Given the description of an element on the screen output the (x, y) to click on. 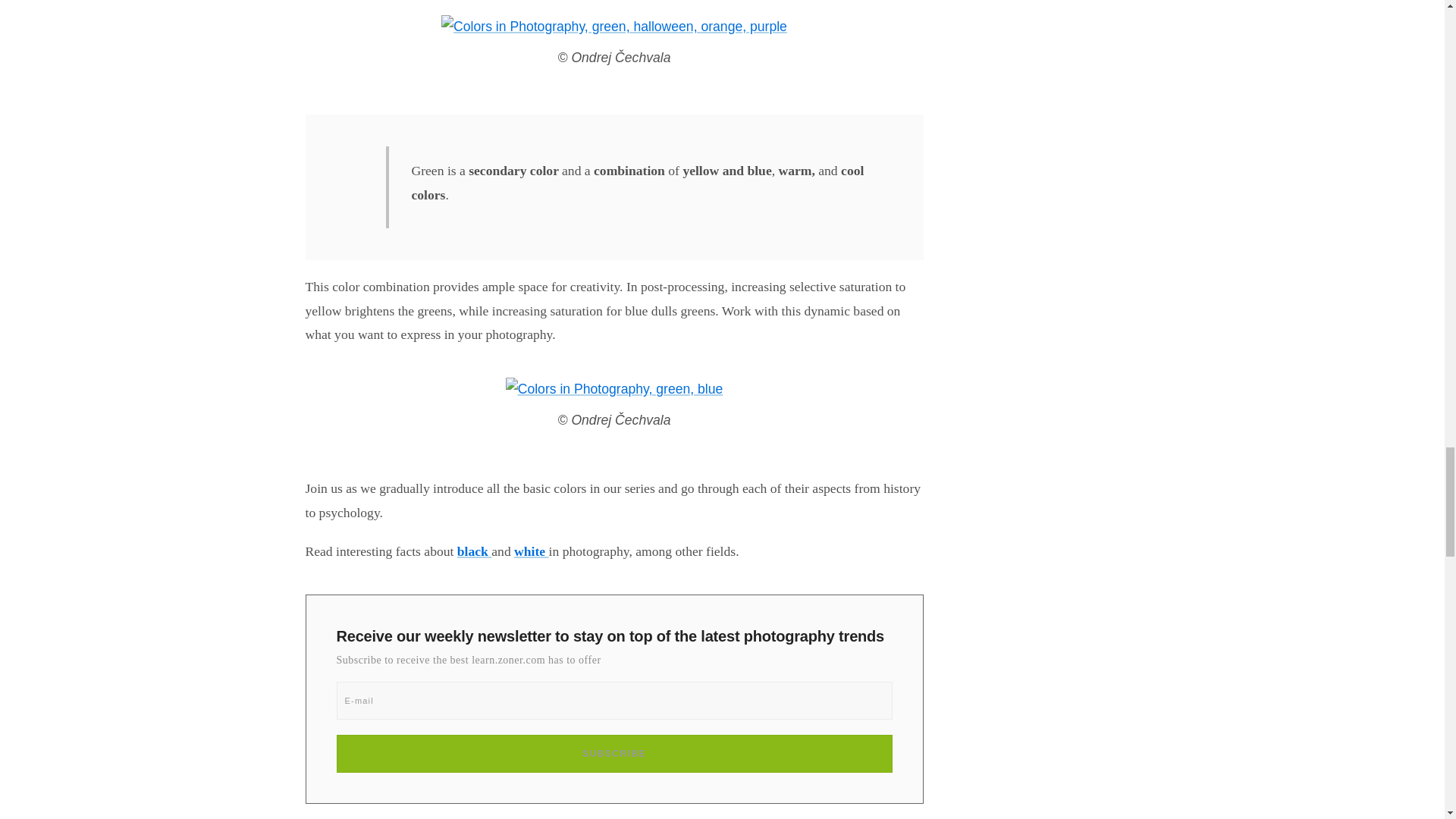
Subscribe (614, 753)
